Given the description of an element on the screen output the (x, y) to click on. 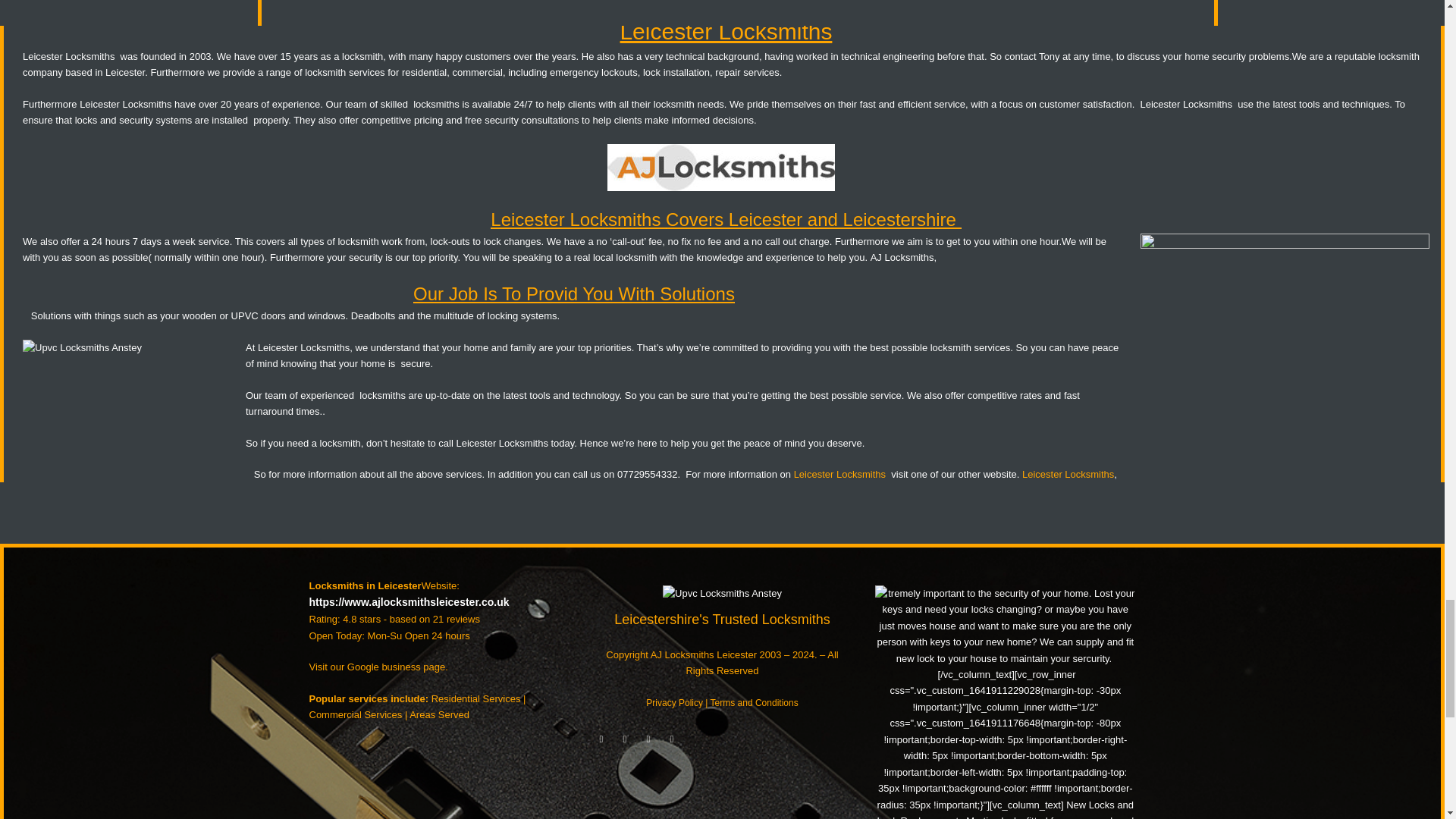
Privacy Policy (674, 702)
Locksmiths in Leicester (365, 585)
Terms and Conditions (753, 702)
Leicester Locksmiths (839, 473)
Commercial Services (355, 714)
Areas Served (438, 714)
twitter (671, 729)
Residential Services (475, 698)
business page (413, 666)
Leicester Locksmiths (502, 442)
Leicester Locksmiths (1067, 473)
facebook (601, 729)
youtube (624, 729)
googleplus (648, 729)
